Given the description of an element on the screen output the (x, y) to click on. 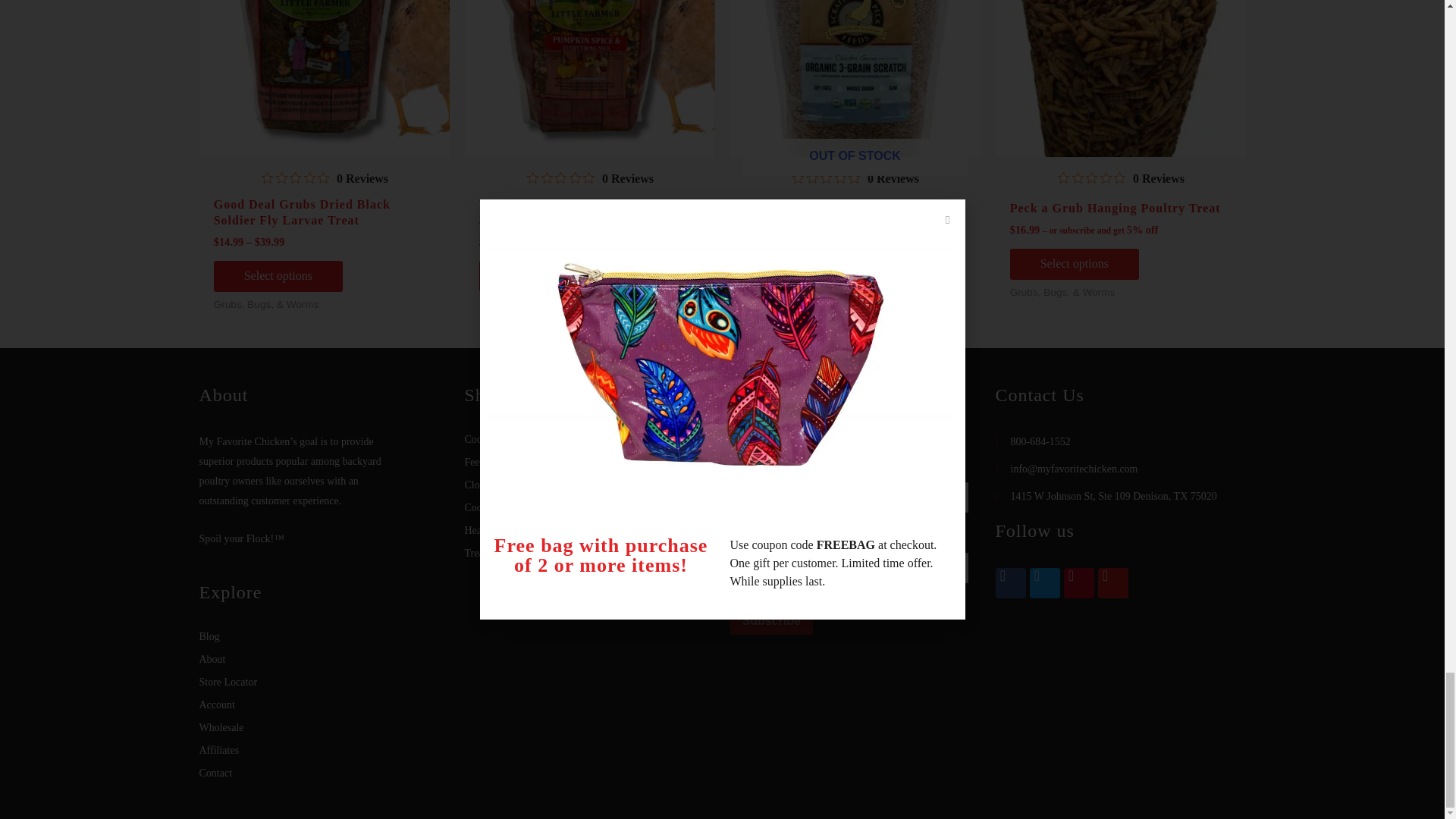
0 Reviews (324, 178)
Subscribe (770, 620)
0 Reviews (589, 178)
0 Reviews (854, 178)
0 Reviews (1120, 178)
